Given the description of an element on the screen output the (x, y) to click on. 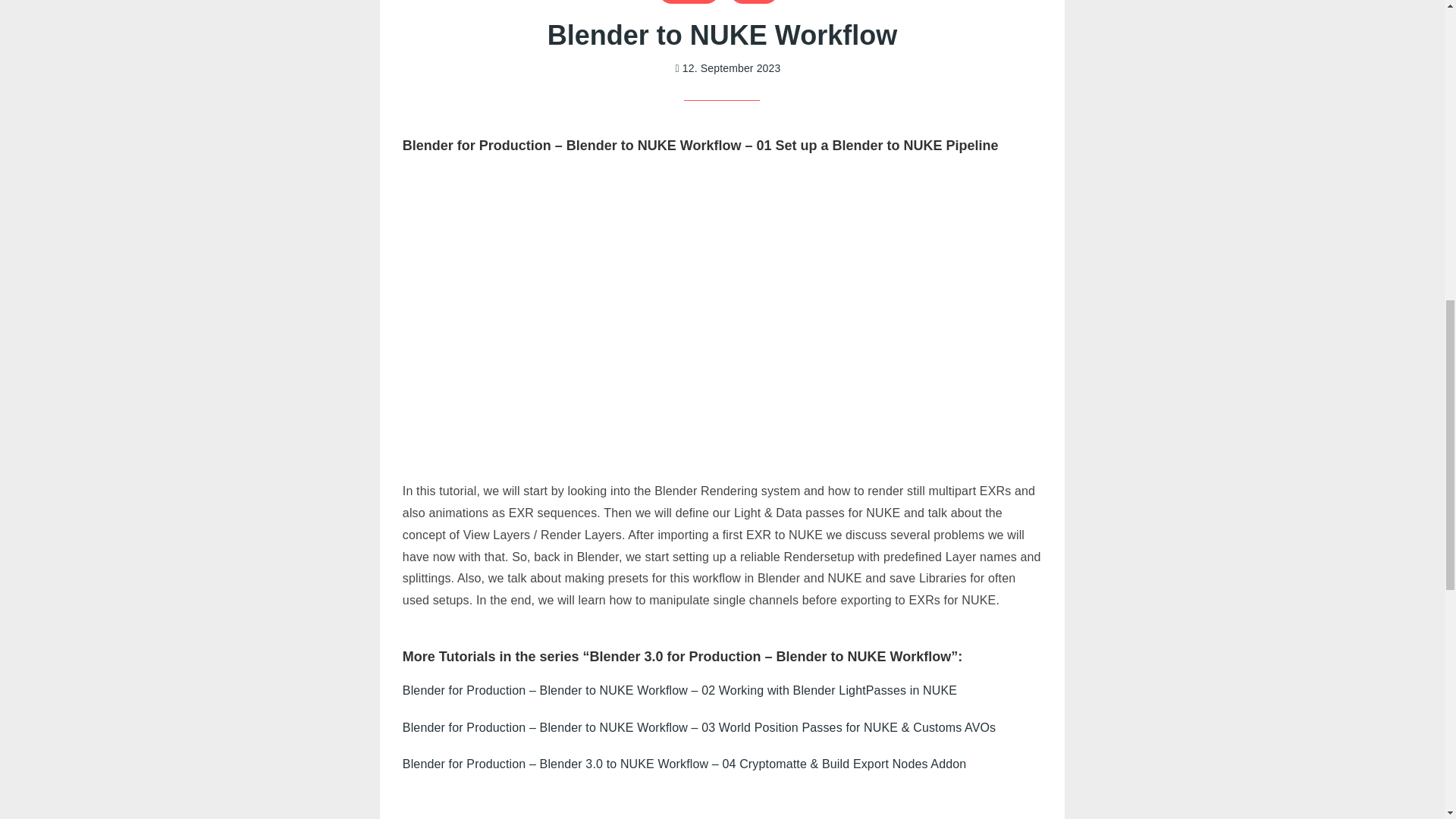
Blender (689, 1)
Nuke (753, 1)
12. September 2023 (727, 68)
